Given the description of an element on the screen output the (x, y) to click on. 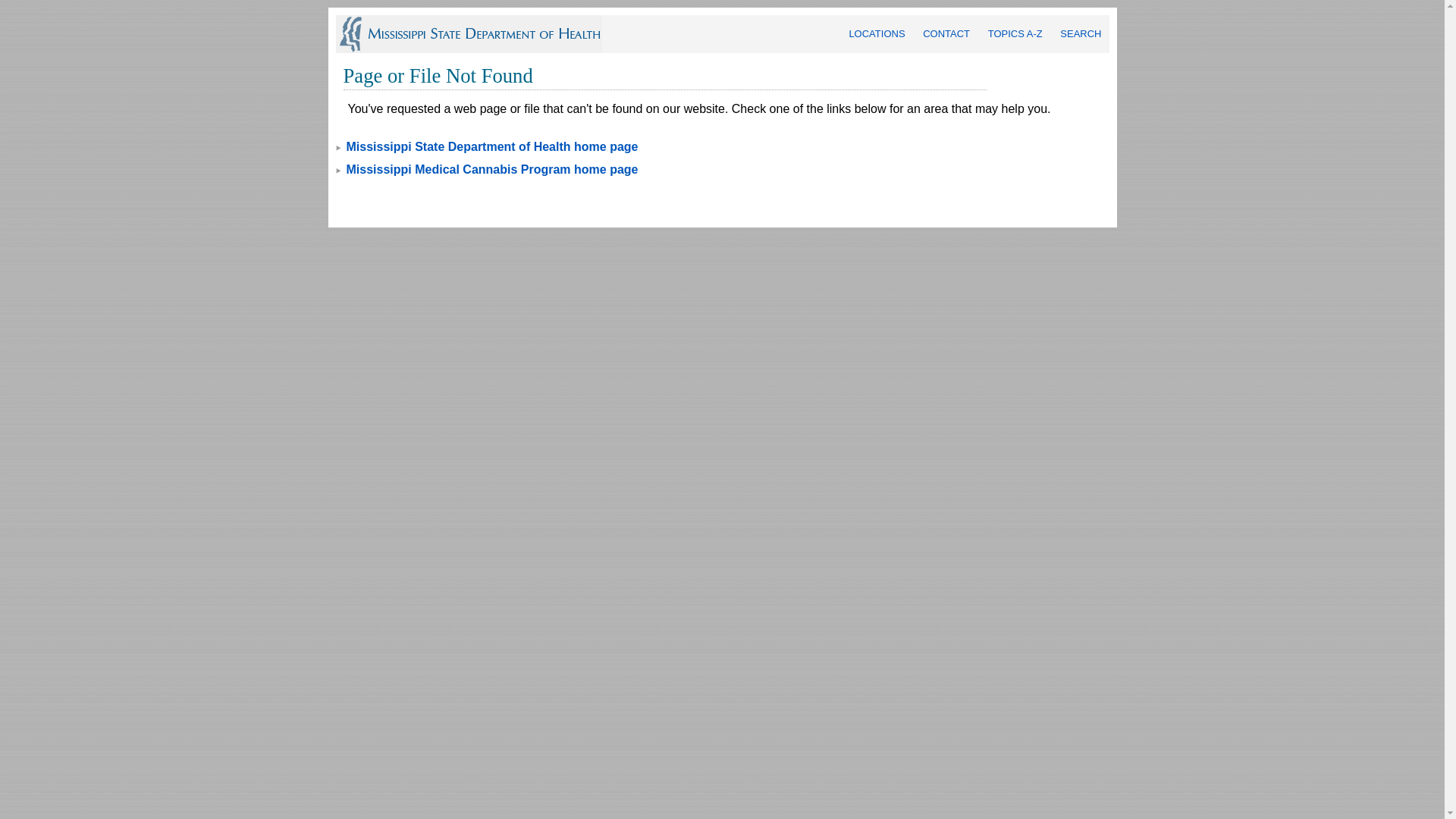
Mississippi State Department of Health home page (491, 146)
CONTACT (945, 33)
Mississippi Medical Cannabis Program home page (491, 169)
SEARCH (1080, 33)
LOCATIONS (876, 33)
TOPICS A-Z (1014, 33)
